Given the description of an element on the screen output the (x, y) to click on. 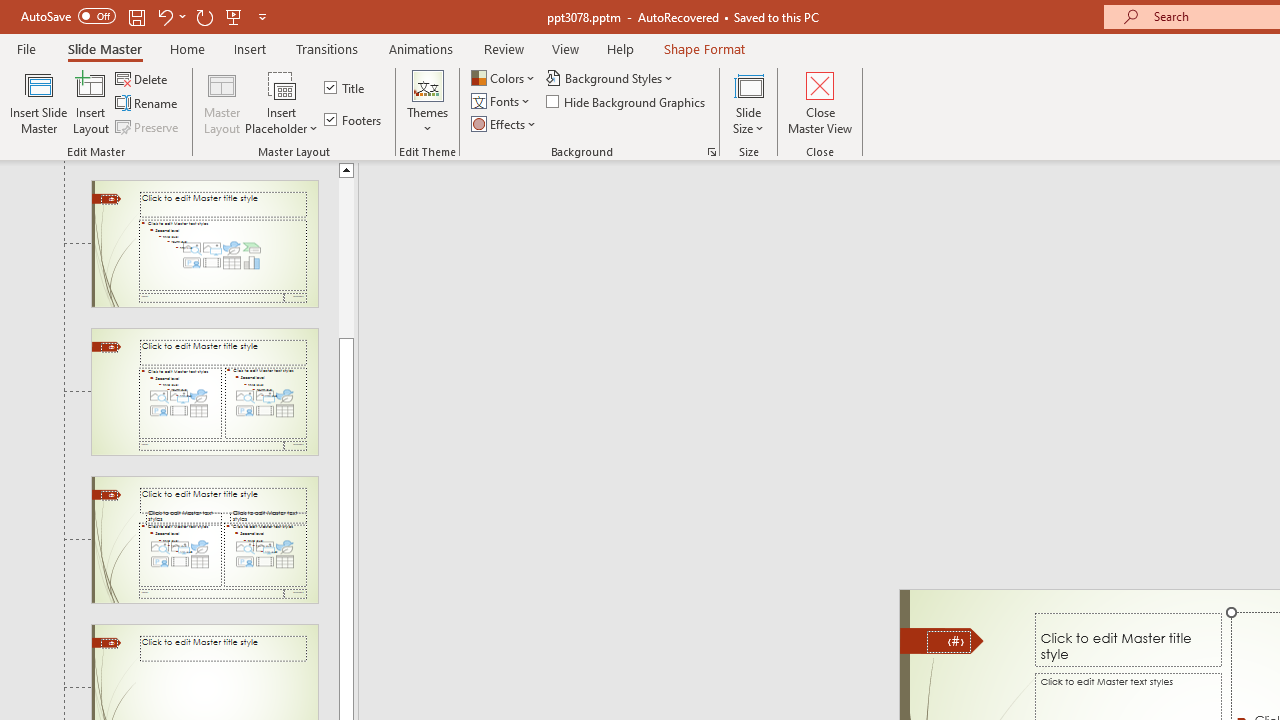
Background Styles (610, 78)
Insert Placeholder (282, 102)
From Beginning (234, 15)
Customize Quick Access Toolbar (262, 15)
Redo (204, 15)
Page up (345, 257)
Hide Background Graphics (626, 101)
Shape Format (704, 48)
Transitions (326, 48)
Slide Title and Content Layout: used by no slides (204, 243)
Colors (504, 78)
Freeform 11 (941, 640)
Title (346, 87)
Master Layout... (221, 102)
